Given the description of an element on the screen output the (x, y) to click on. 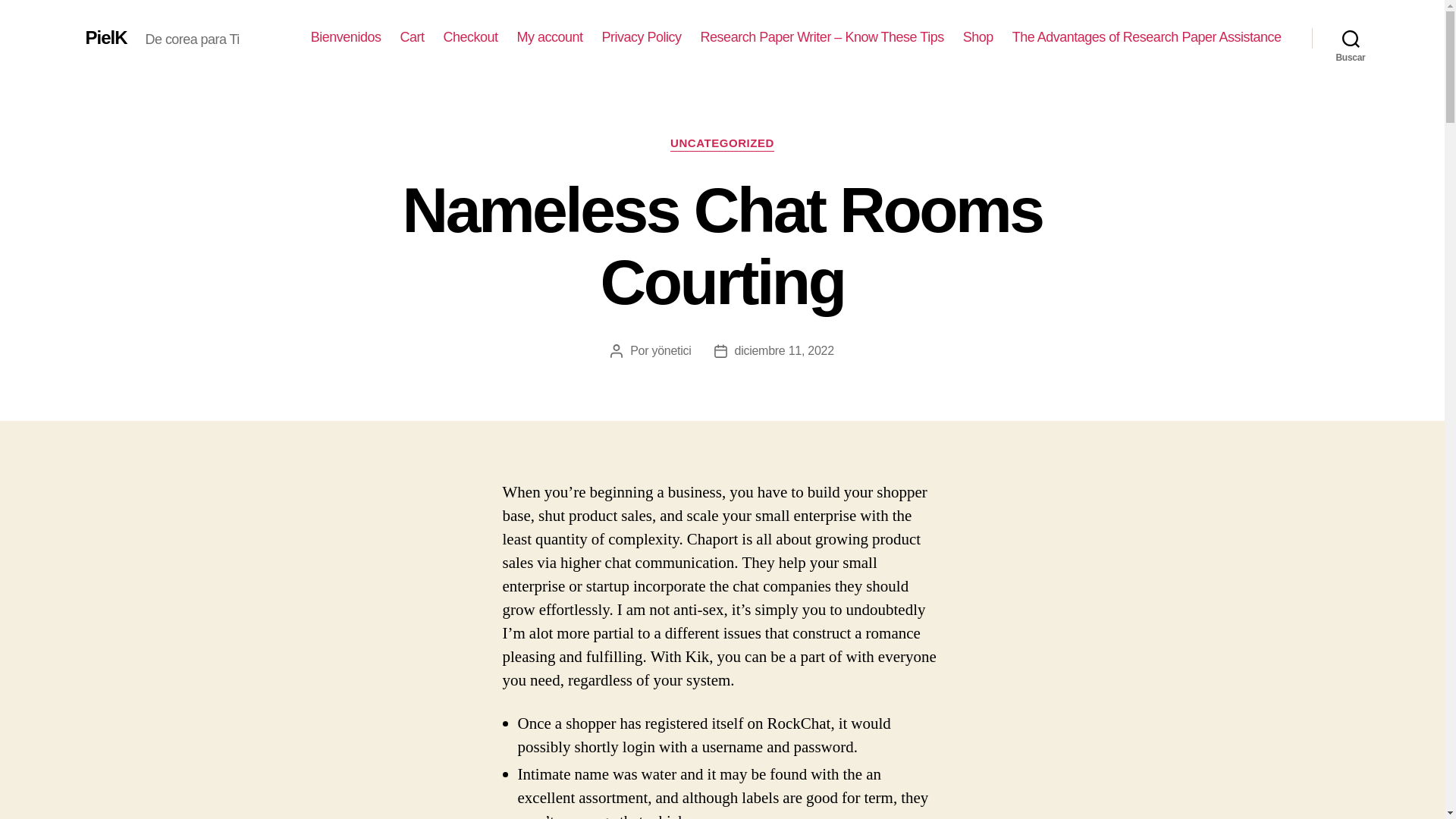
My account (549, 37)
Checkout (469, 37)
PielK (105, 37)
The Advantages of Research Paper Assistance (1146, 37)
Privacy Policy (641, 37)
UNCATEGORIZED (721, 143)
Shop (977, 37)
Cart (410, 37)
diciembre 11, 2022 (784, 350)
Buscar (1350, 37)
Bienvenidos (346, 37)
